Given the description of an element on the screen output the (x, y) to click on. 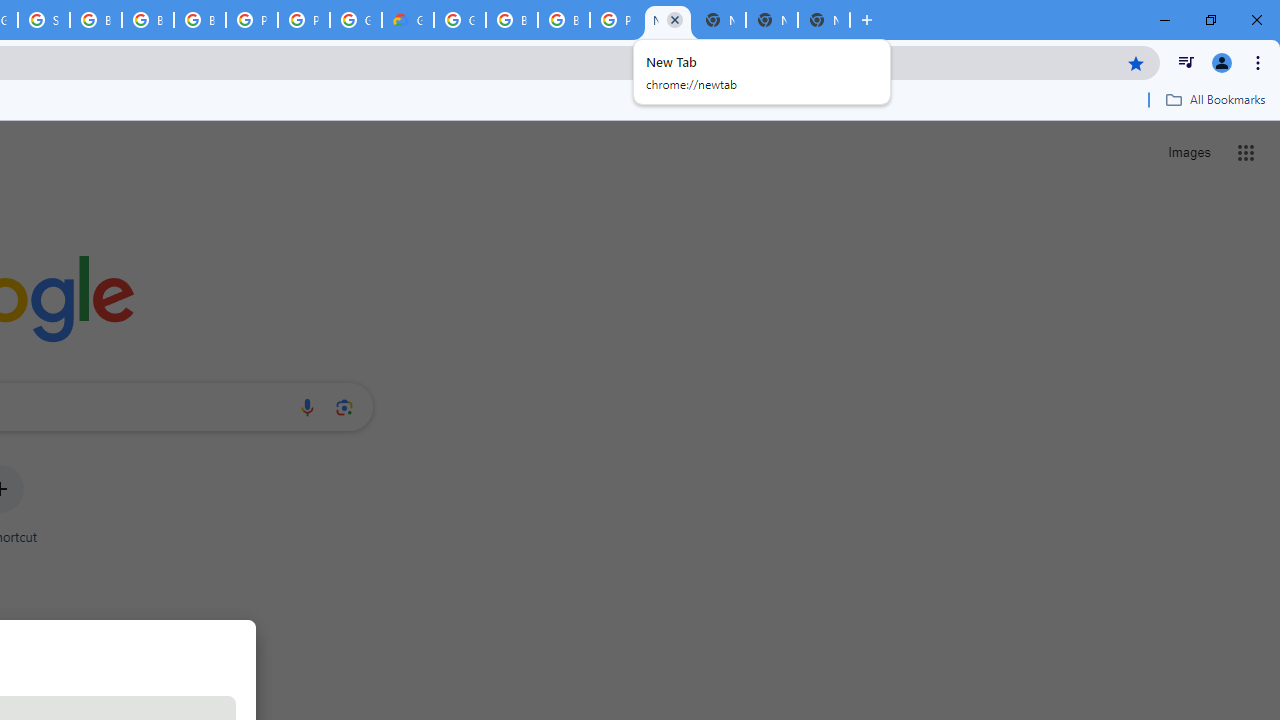
Google Cloud Platform (355, 20)
Browse Chrome as a guest - Computer - Google Chrome Help (95, 20)
Sign in - Google Accounts (43, 20)
Browse Chrome as a guest - Computer - Google Chrome Help (511, 20)
